Given the description of an element on the screen output the (x, y) to click on. 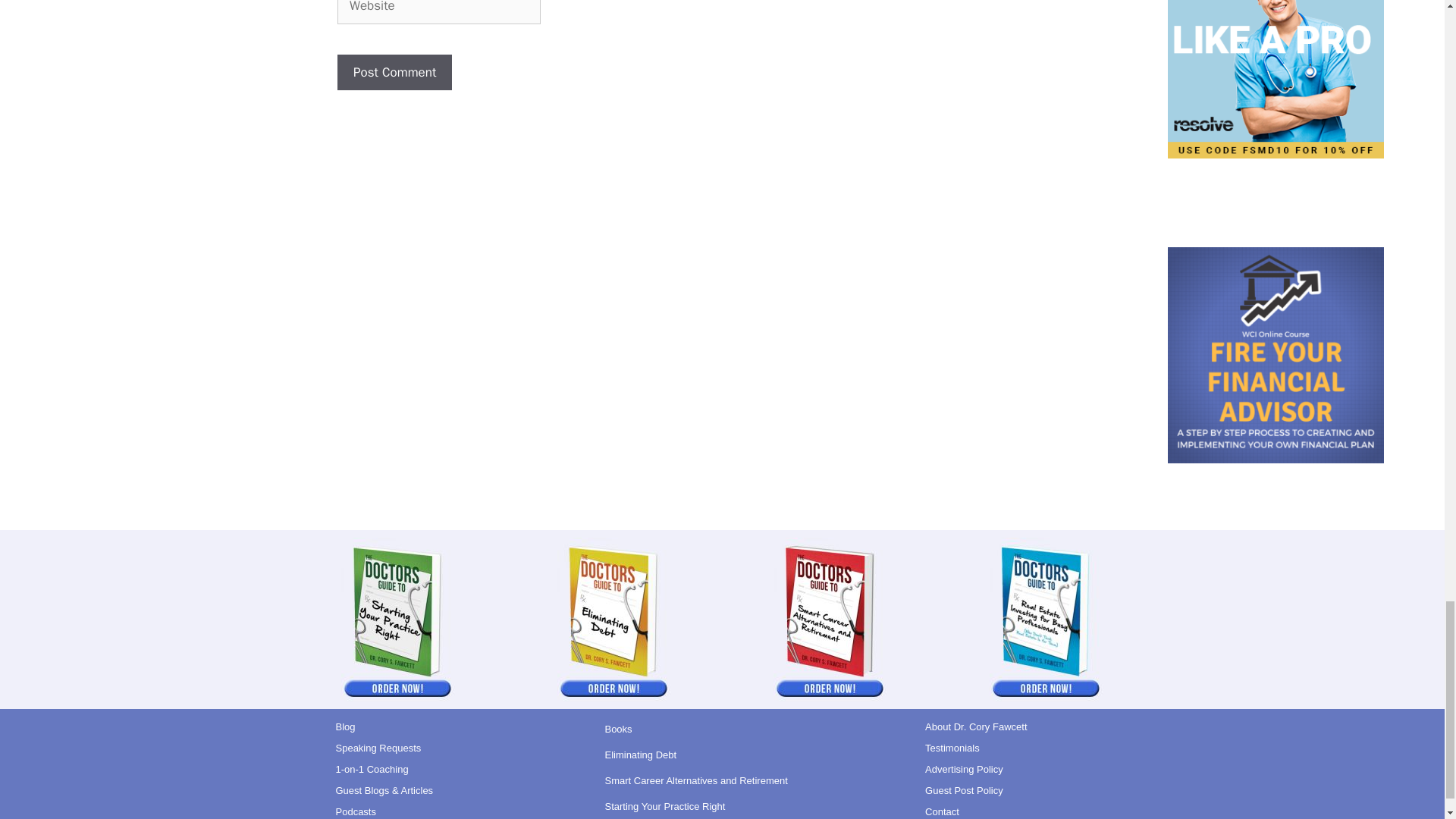
Post Comment (394, 72)
